Given the description of an element on the screen output the (x, y) to click on. 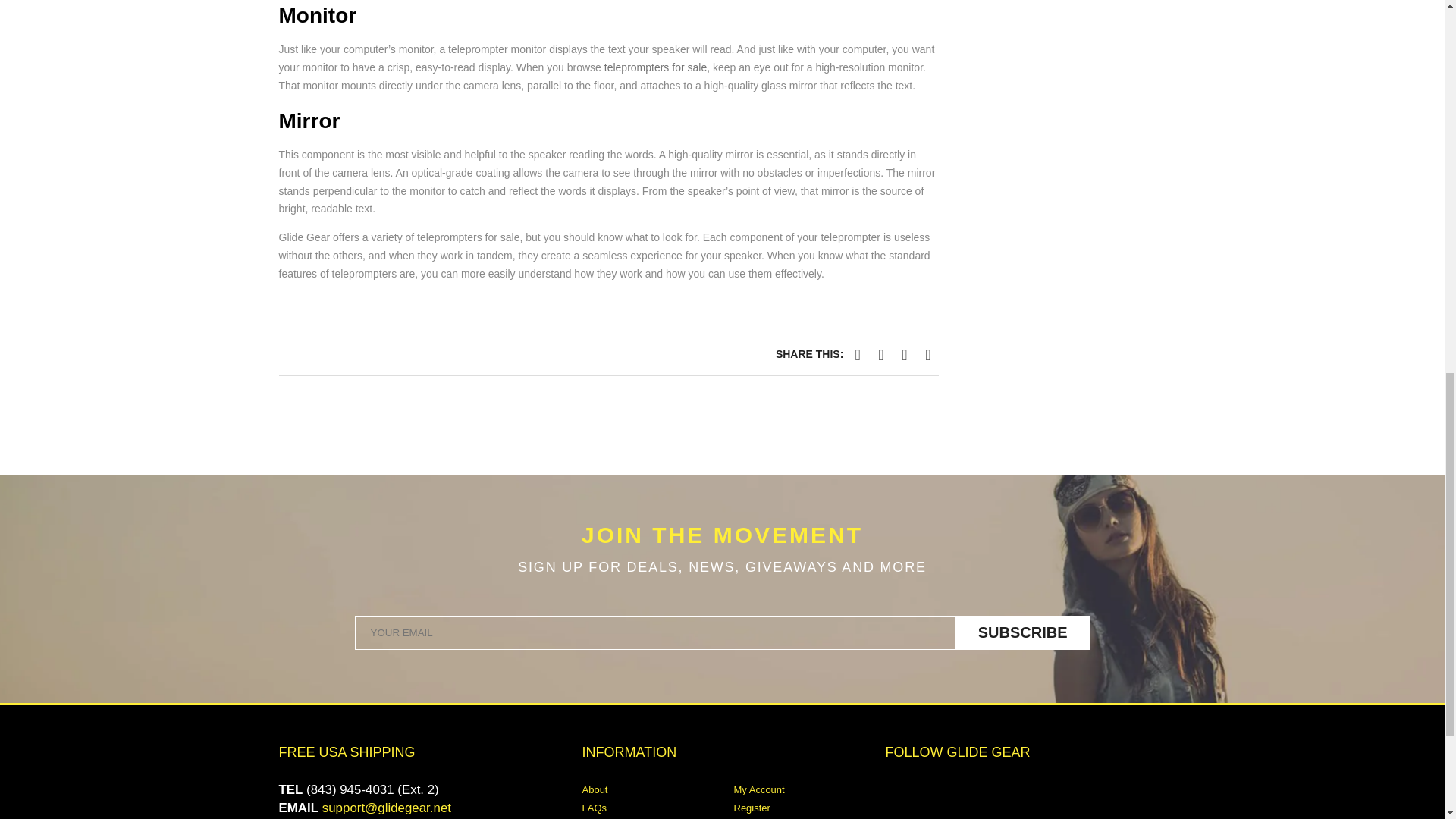
Subscribe (1022, 632)
teleprompters for sale (655, 67)
